Given the description of an element on the screen output the (x, y) to click on. 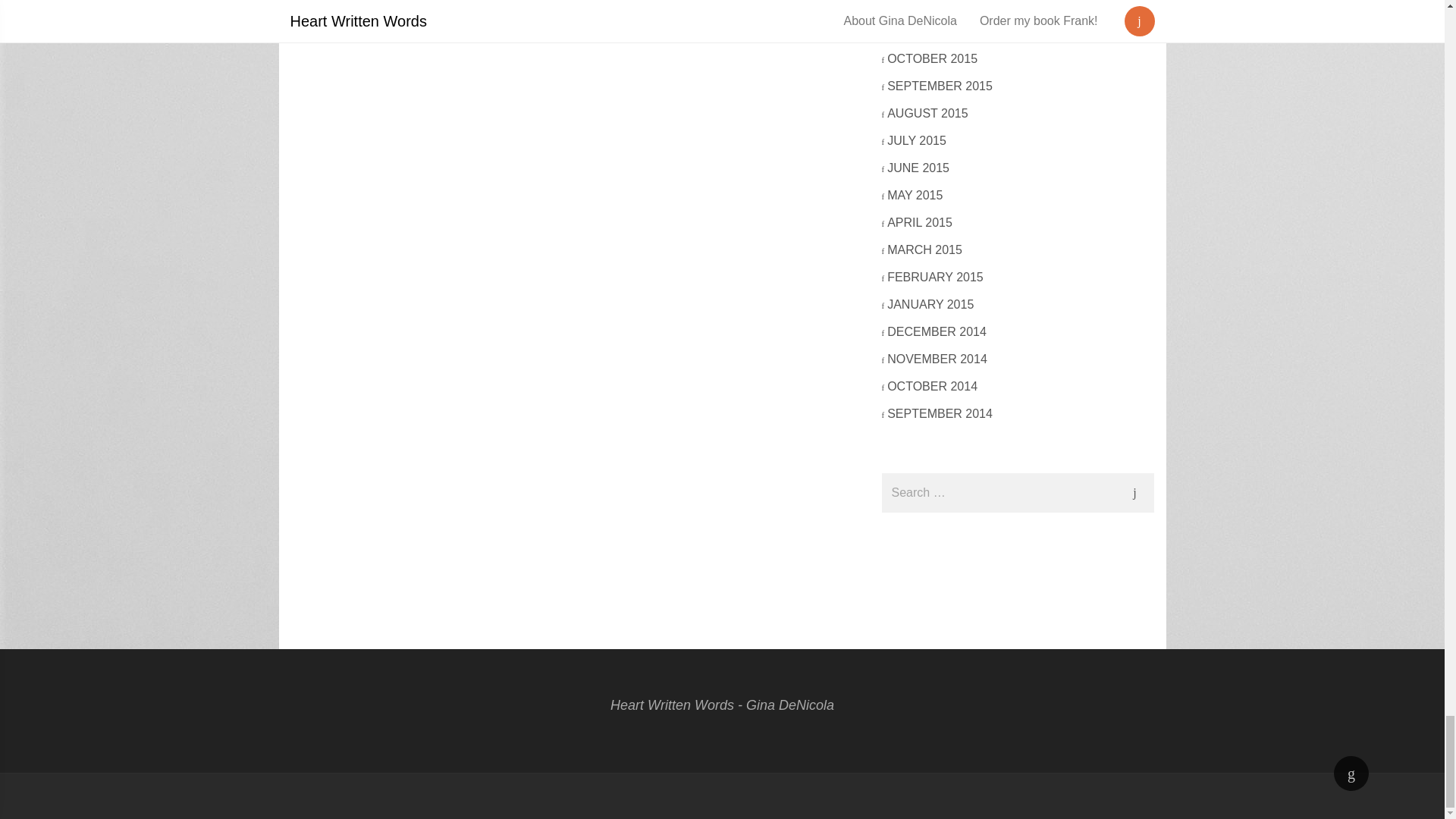
To top (1350, 773)
Search (1134, 492)
Search (1134, 492)
